Given the description of an element on the screen output the (x, y) to click on. 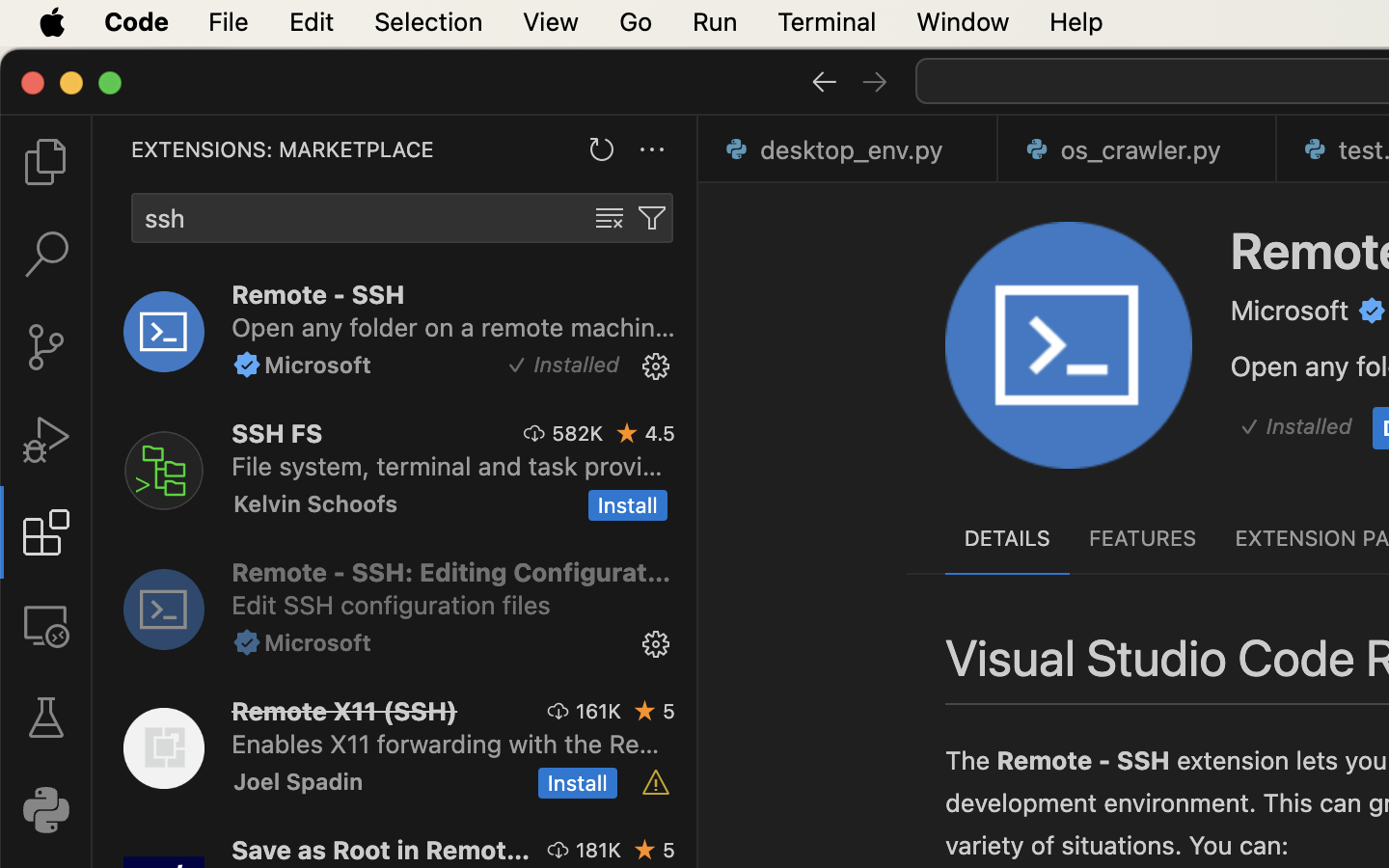
Installed Element type: AXStaticText (1308, 426)
4.5 Element type: AXStaticText (659, 432)
 Element type: AXGroup (46, 717)
Kelvin Schoofs Element type: AXStaticText (316, 502)
Enables X11 forwarding with the Remote - SSH extension. Element type: AXStaticText (445, 743)
